Given the description of an element on the screen output the (x, y) to click on. 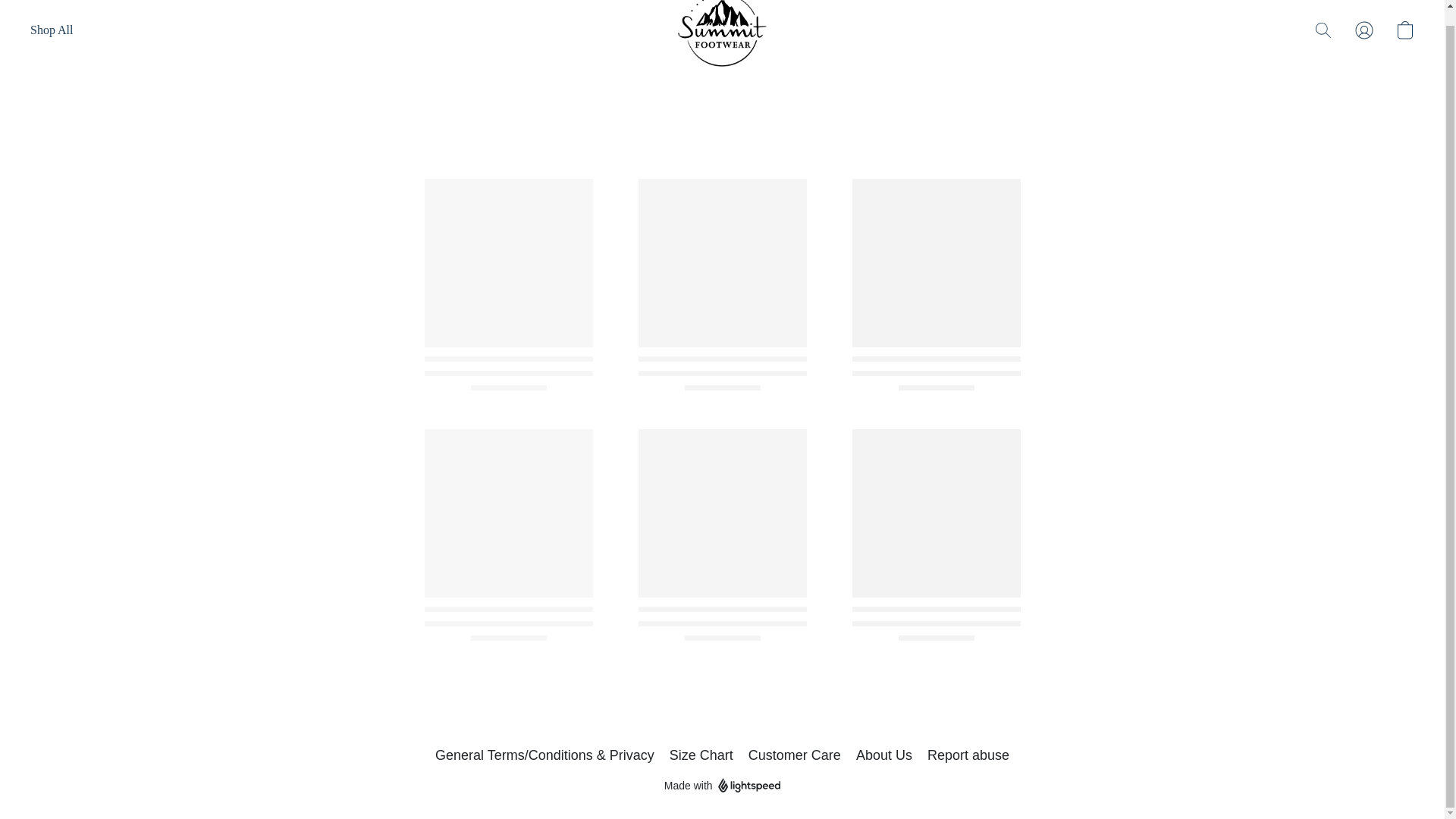
About Us (884, 754)
Go to your shopping cart (1404, 29)
Made with (721, 785)
Shop All (51, 30)
Customer Care (794, 754)
Report abuse (968, 754)
Size Chart (701, 754)
Search the website (1323, 29)
